Given the description of an element on the screen output the (x, y) to click on. 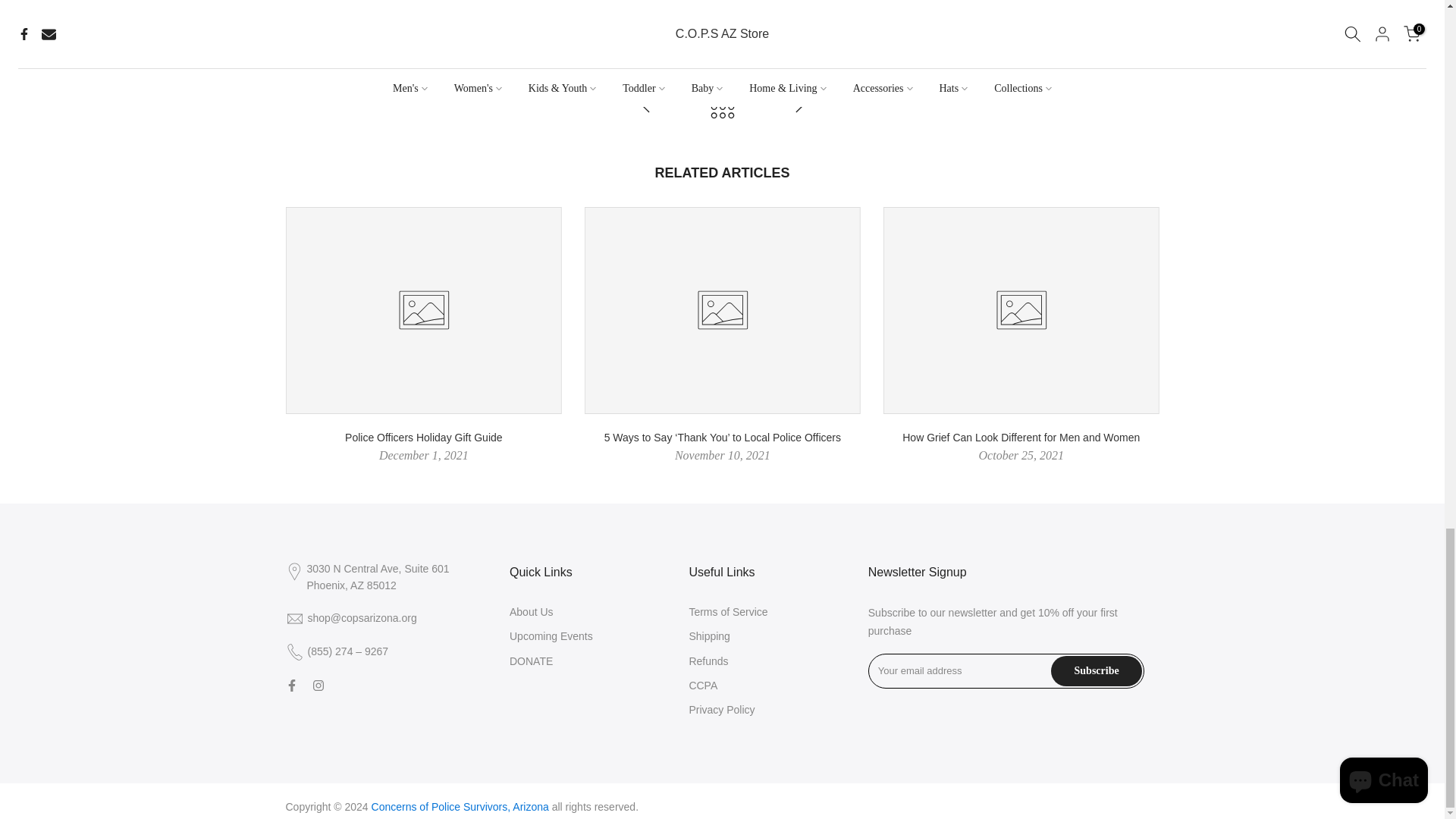
Halloween Safety Tips for Kids (646, 107)
Share on Facebook (700, 40)
Share on Email (743, 40)
Halloween Safety Tips for Kids (797, 107)
